Given the description of an element on the screen output the (x, y) to click on. 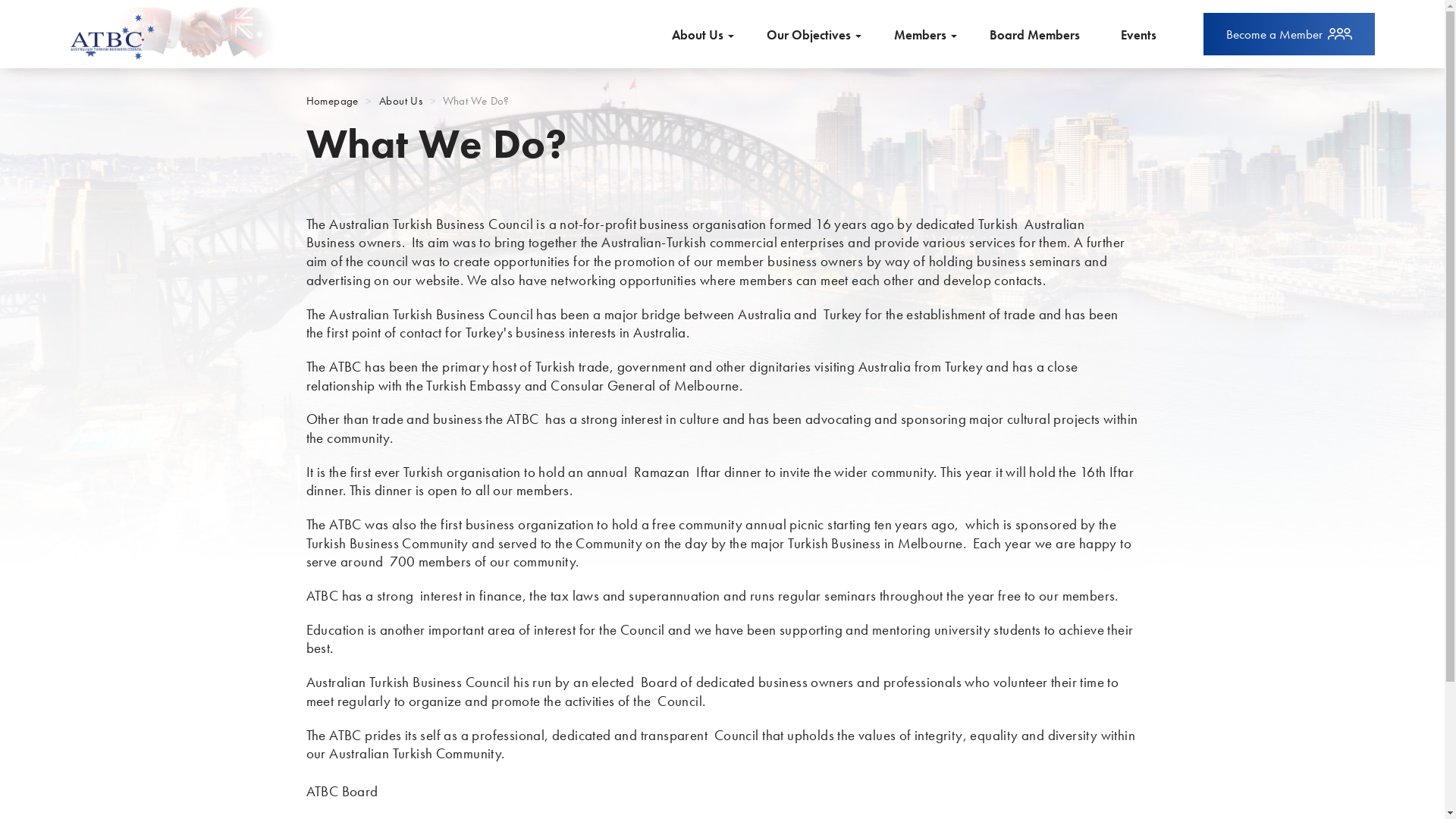
Our Objectives Element type: text (812, 34)
About Us Element type: text (400, 100)
Events Element type: text (1137, 34)
Board Members Element type: text (1033, 34)
Homepage Element type: text (332, 100)
Become a Member Element type: text (1288, 33)
About Us Element type: text (702, 34)
Members Element type: text (924, 34)
